Given the description of an element on the screen output the (x, y) to click on. 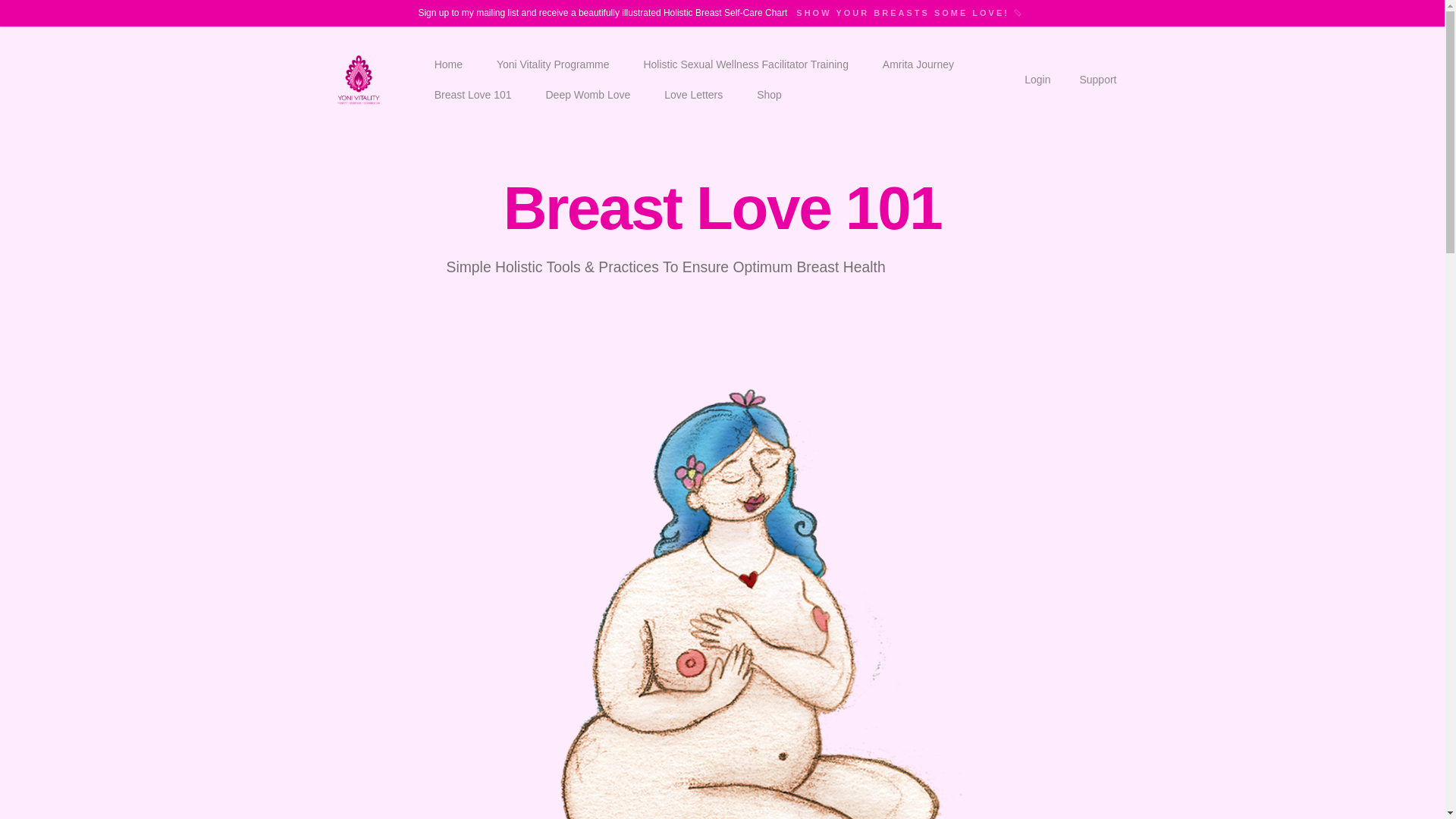
Deep Womb Love (588, 94)
Holistic Sexual Wellness Facilitator Training (745, 64)
Breast Love 101 (473, 94)
Love Letters (693, 94)
Shop (769, 94)
Support (1097, 79)
Home (448, 64)
Yoni Vitality Programme (552, 64)
Amrita Journey (917, 64)
